Given the description of an element on the screen output the (x, y) to click on. 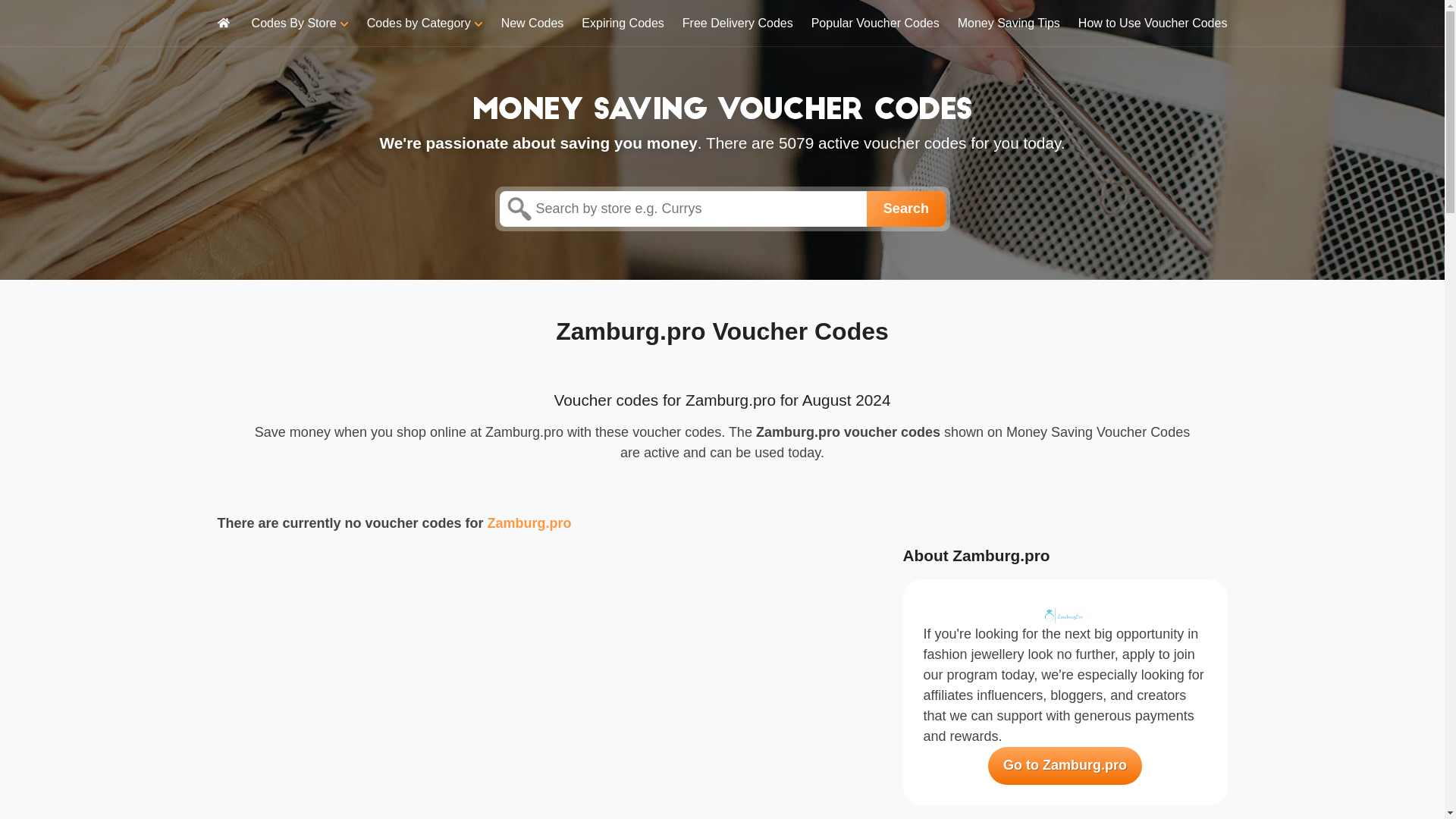
Visit our Homepage (722, 106)
Search (905, 208)
Go to Zamburg.pro (1064, 765)
Zamburg.pro (529, 522)
Money Saving Tips (1008, 22)
Expiring Codes (622, 22)
Search (905, 208)
Free Delivery Codes (738, 22)
Codes By Store (300, 22)
Popular Voucher Codes (874, 22)
